Given the description of an element on the screen output the (x, y) to click on. 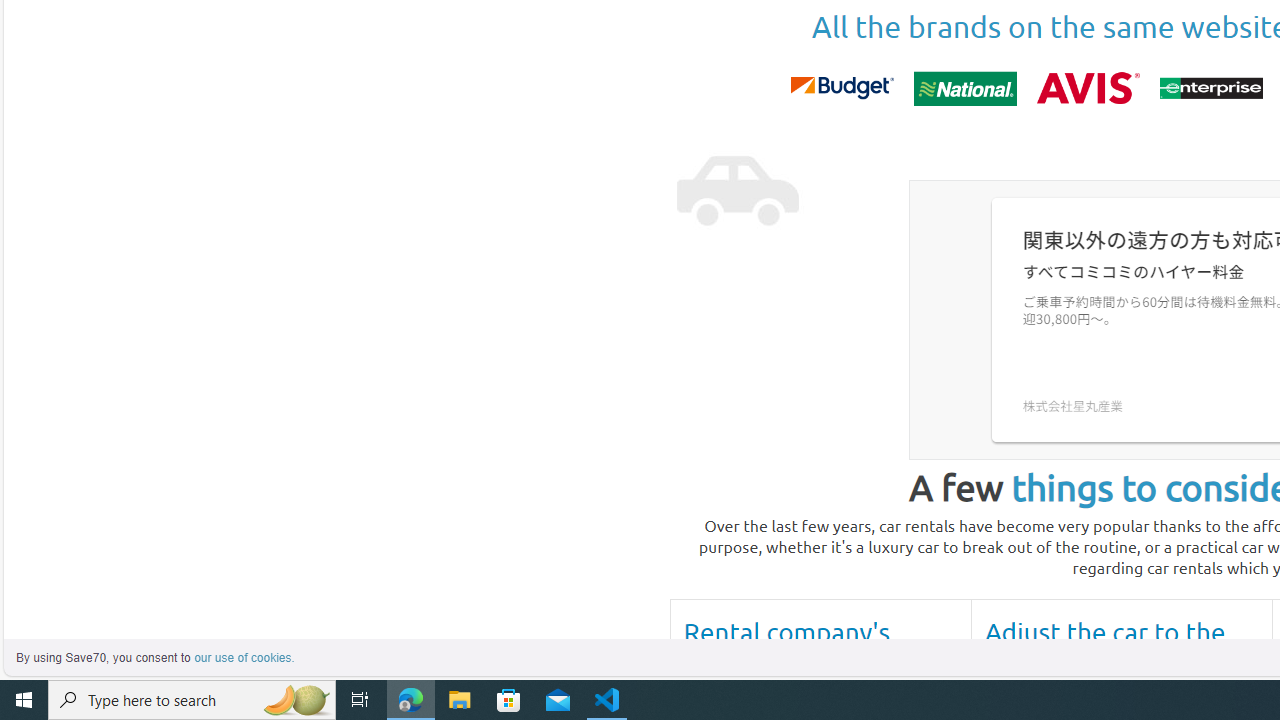
national (964, 88)
Budget (841, 88)
learn more about cookies (244, 657)
avis (1087, 88)
enterprice (1210, 88)
